Given the description of an element on the screen output the (x, y) to click on. 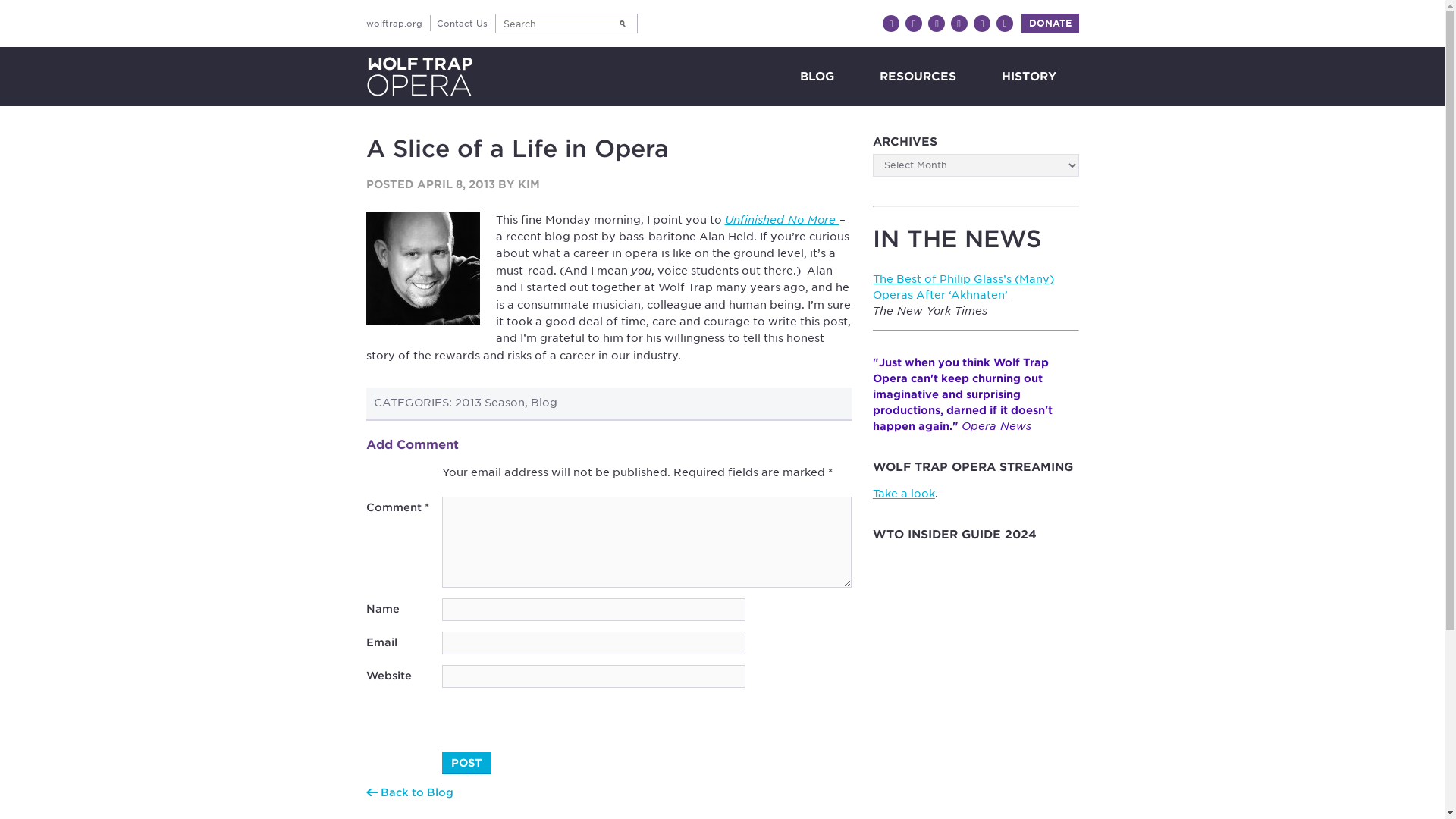
Post (465, 762)
Take a look (903, 493)
BLOG (816, 76)
DONATE (1049, 22)
RESOURCES (917, 76)
Wolf Trap Opera (419, 76)
Instagram (936, 23)
Twitter (913, 23)
2013 Season (489, 402)
Blog (544, 402)
